Given the description of an element on the screen output the (x, y) to click on. 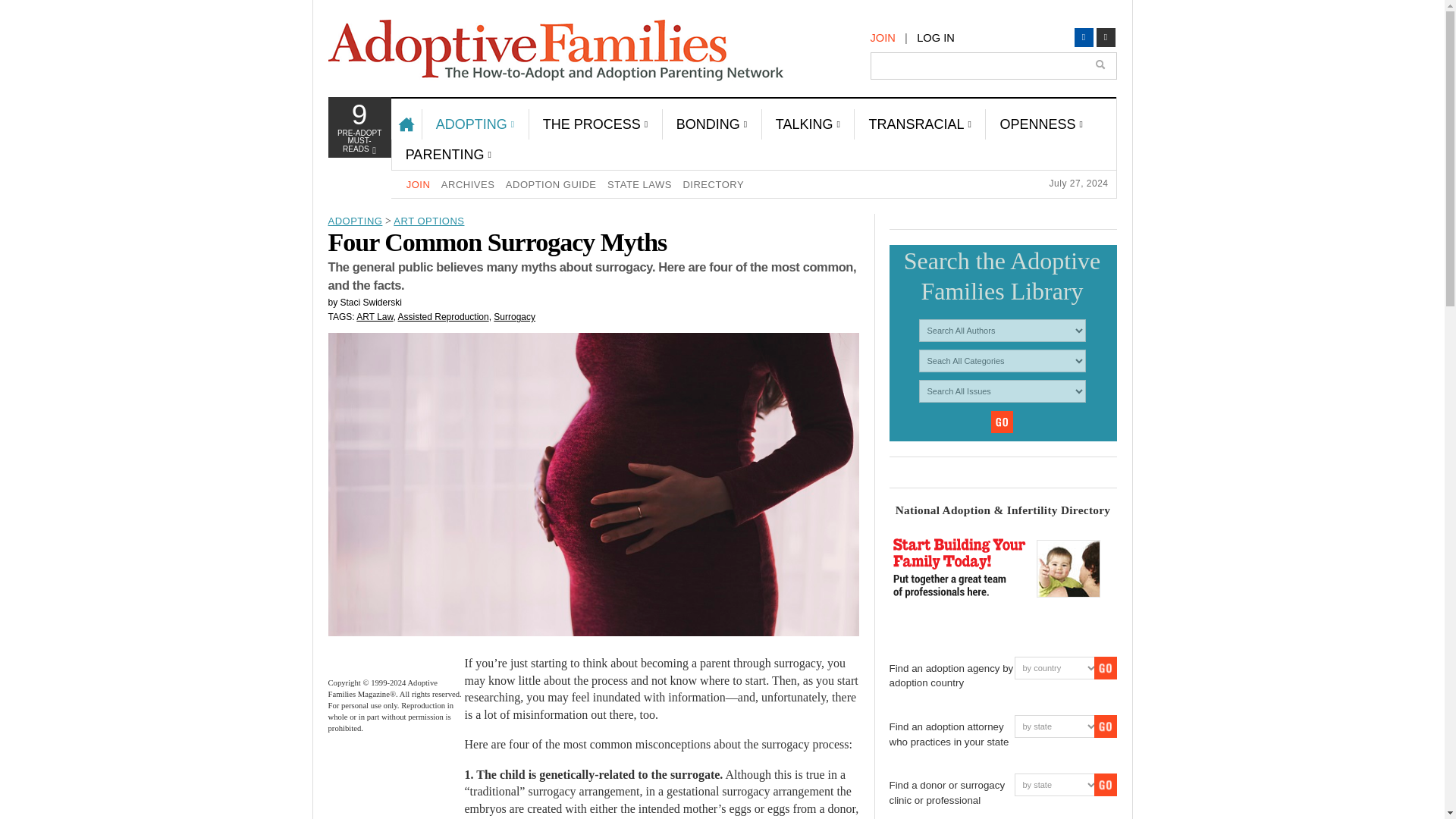
INTERNATIONAL ADOPTION COUNTRIES (477, 294)
Pinterest (1105, 36)
Facebook (1083, 36)
Search (1091, 114)
DOMESTIC (477, 158)
ADOPTION LAWS BY STATE (477, 195)
Adoptive Families (555, 50)
Search (1101, 66)
LOG IN (936, 37)
INTERNATIONAL (477, 256)
JOIN (882, 37)
Search (1002, 422)
THE ADOPTION GUIDE (358, 131)
Search (477, 401)
